Given the description of an element on the screen output the (x, y) to click on. 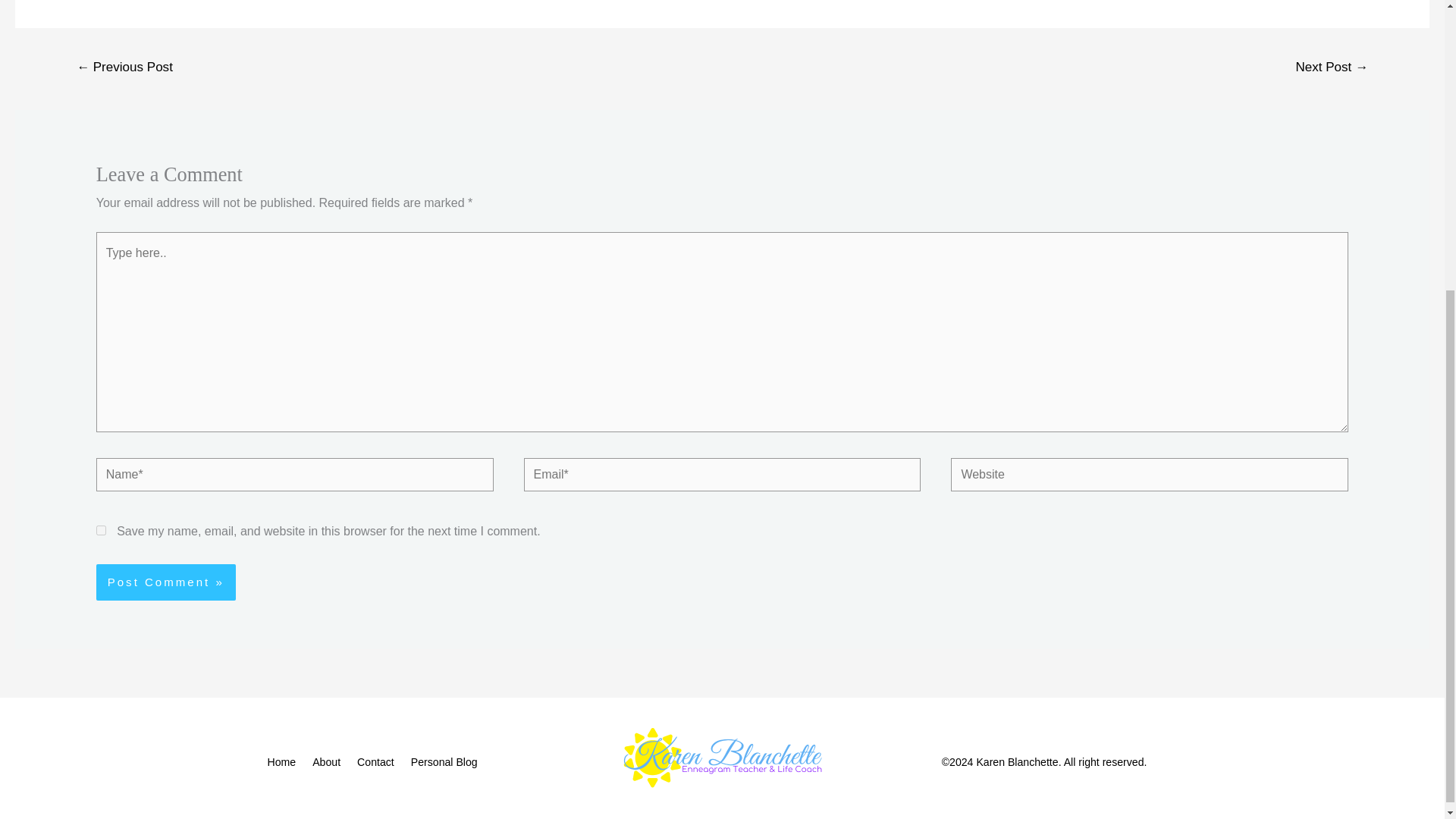
Contact (379, 762)
About (329, 762)
Home (286, 762)
Personal Blog (447, 762)
yes (101, 530)
